Given the description of an element on the screen output the (x, y) to click on. 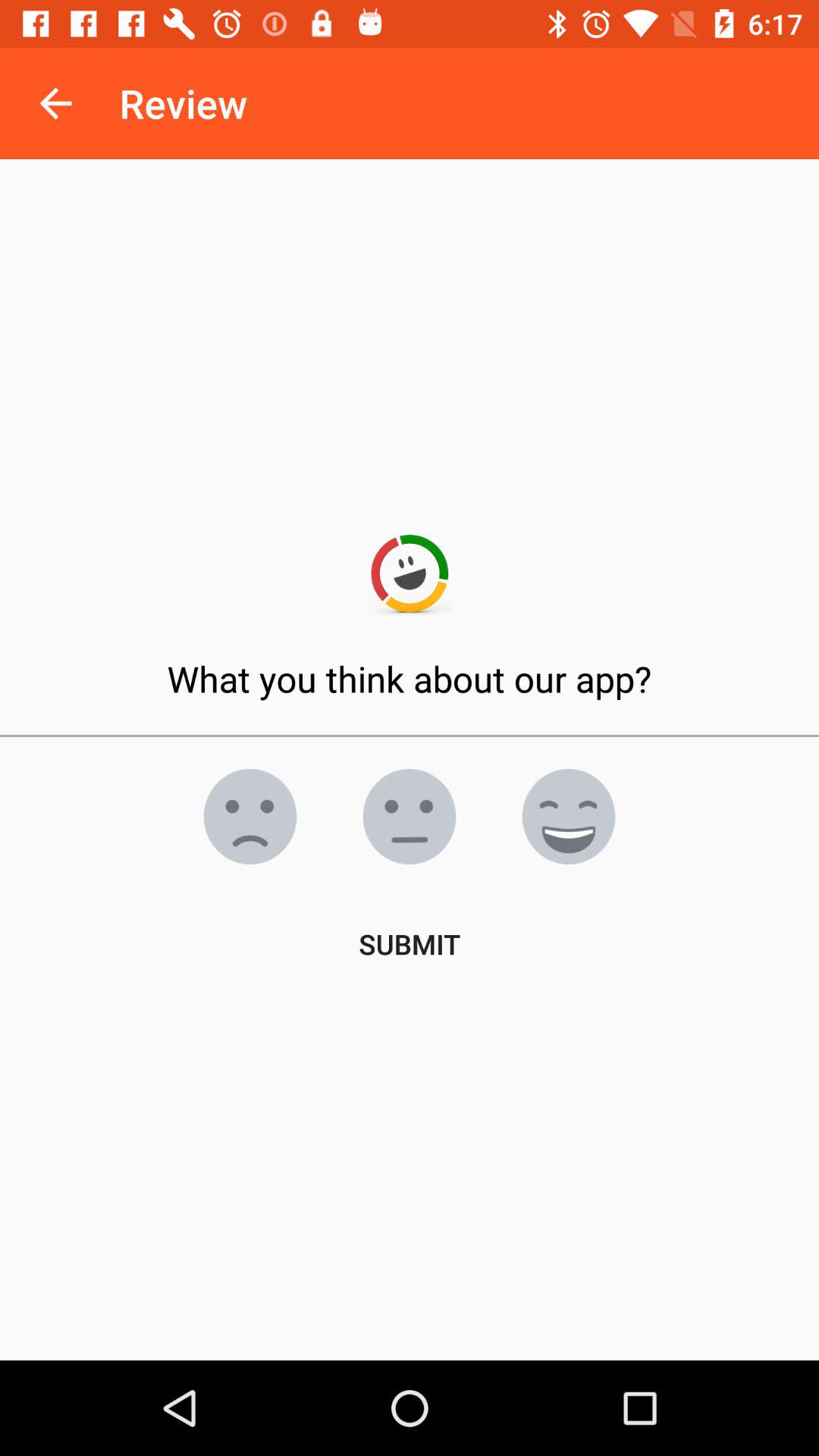
rate the sad face (249, 816)
